Given the description of an element on the screen output the (x, y) to click on. 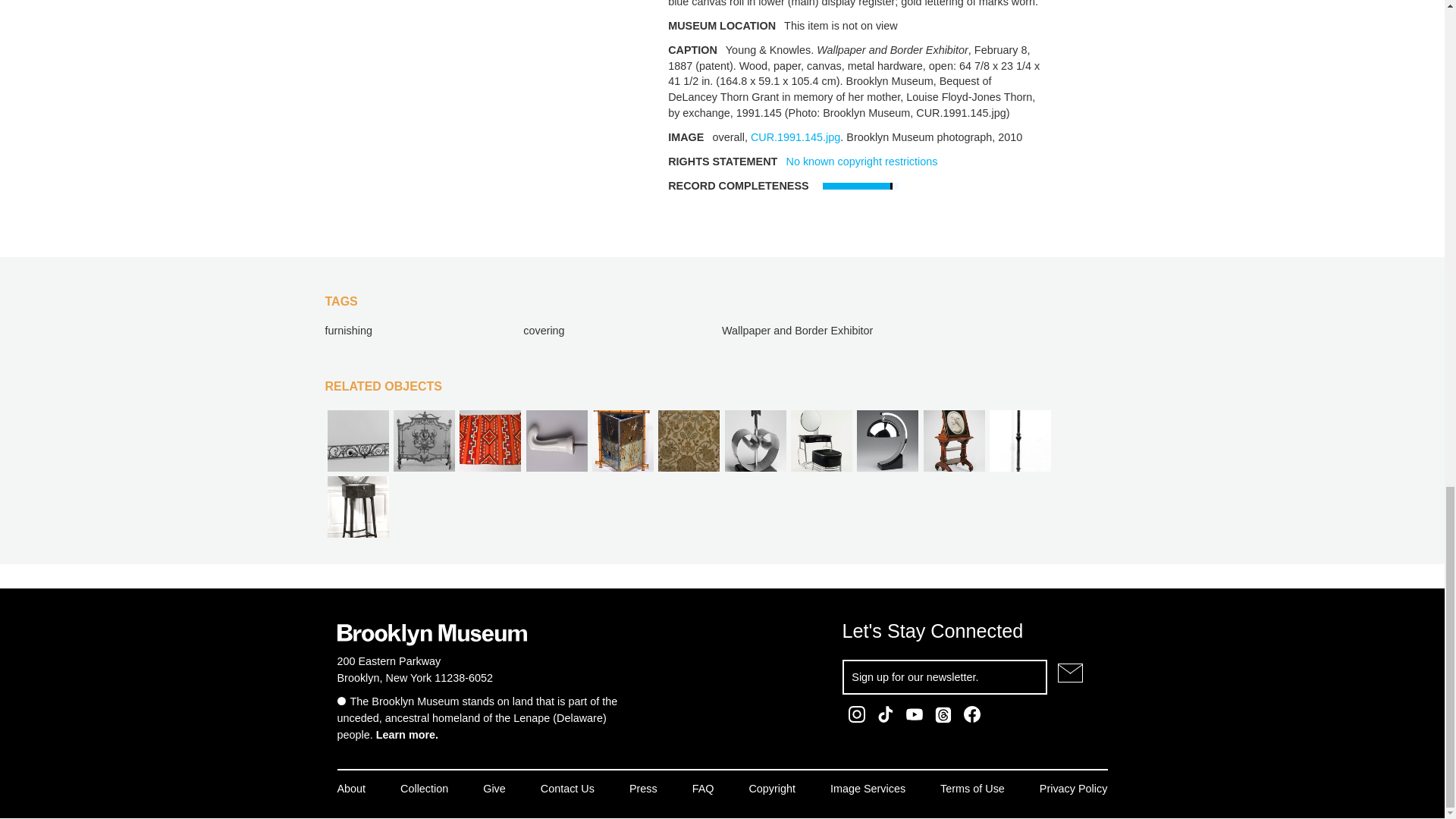
Items tagged Wallpaper and Border Exhibitor (797, 330)
Items tagged furnishing (347, 330)
Items tagged covering (543, 330)
